Given the description of an element on the screen output the (x, y) to click on. 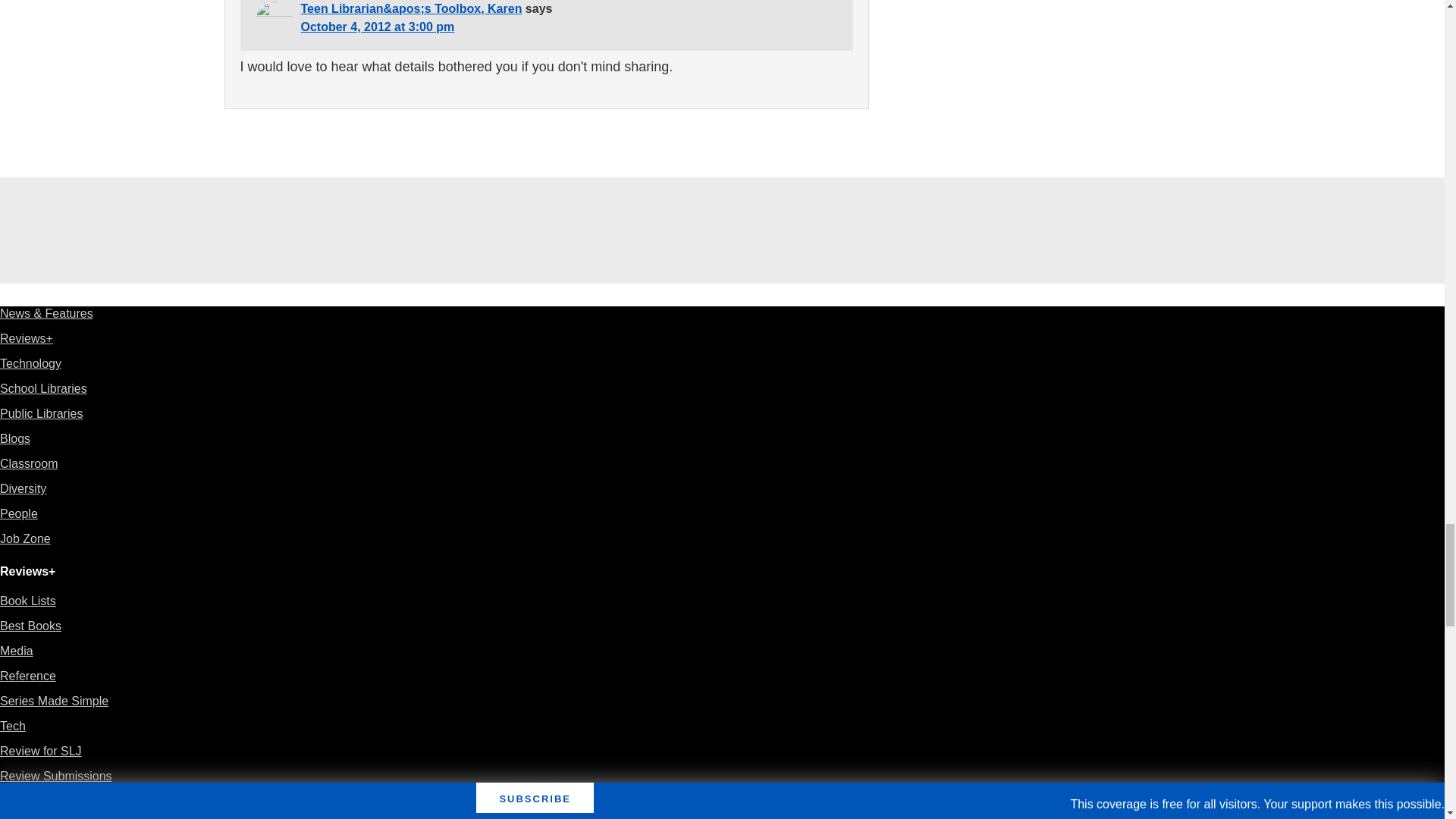
3rd party ad content (721, 230)
